Given the description of an element on the screen output the (x, y) to click on. 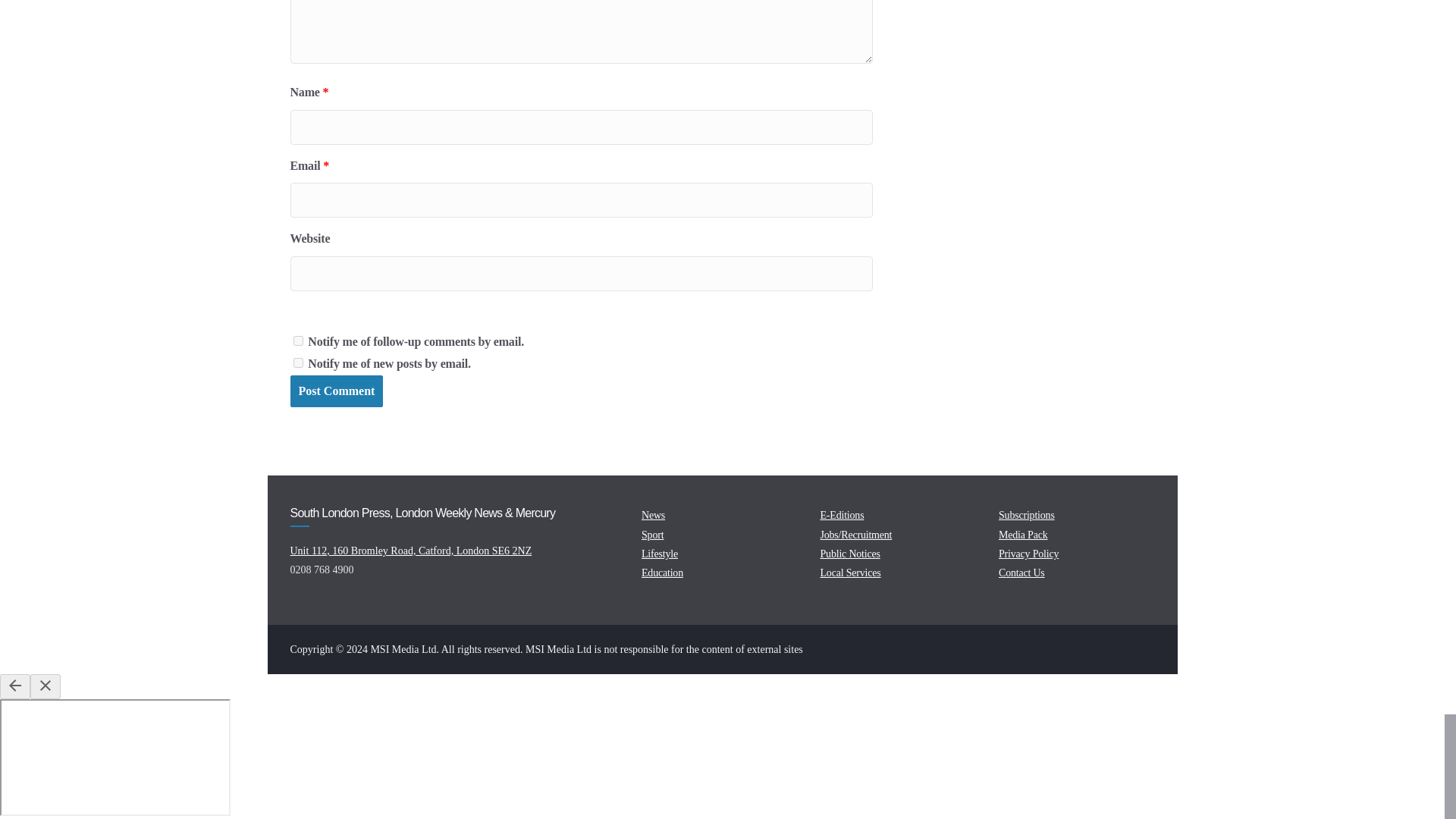
Post Comment (335, 391)
subscribe (297, 362)
subscribe (297, 340)
